Given the description of an element on the screen output the (x, y) to click on. 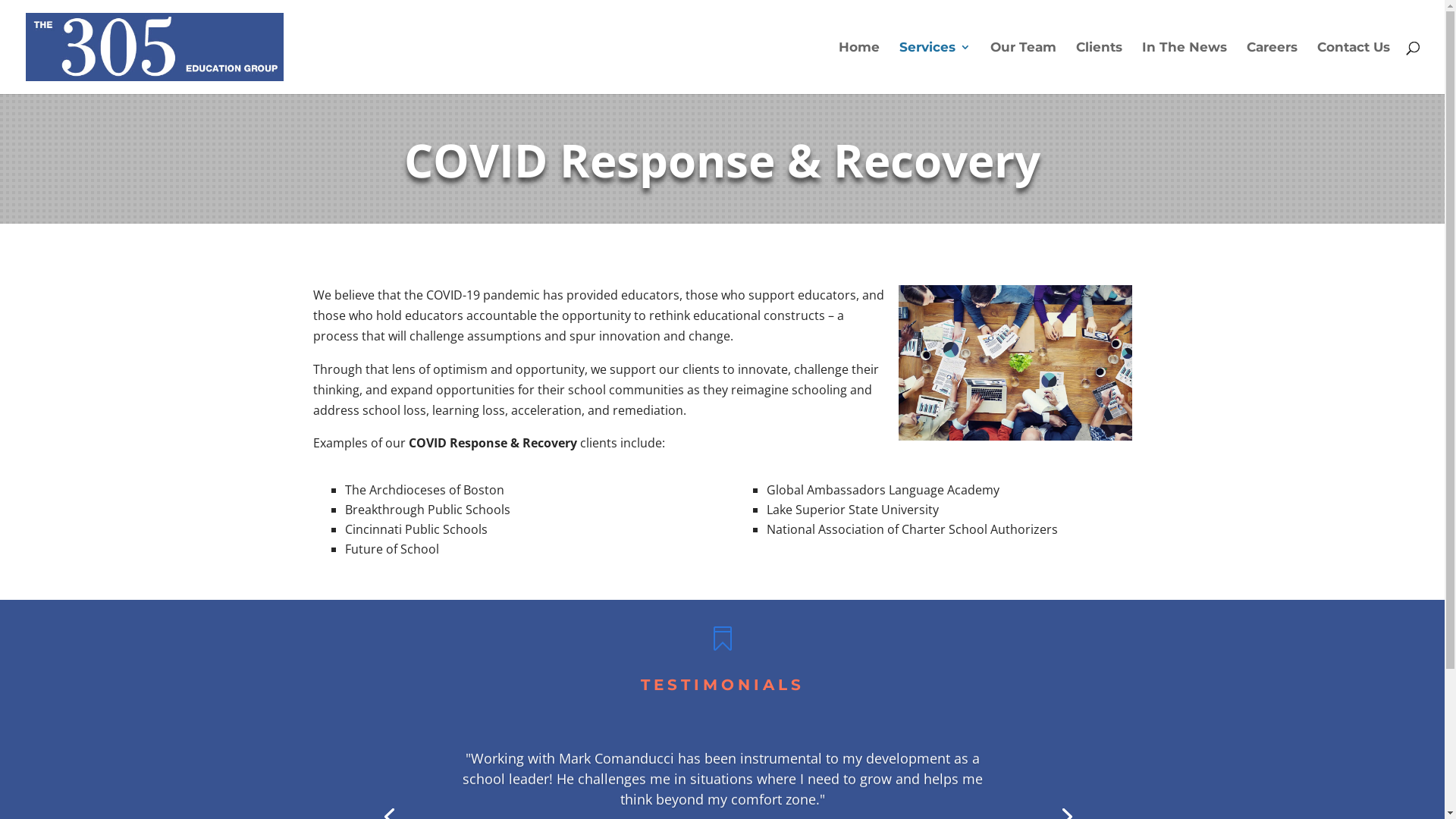
Home Element type: text (858, 67)
Our Team Element type: text (1023, 67)
Clients Element type: text (1099, 67)
Services Element type: text (934, 67)
In The News Element type: text (1184, 67)
Contact Us Element type: text (1353, 67)
Careers Element type: text (1271, 67)
